Given the description of an element on the screen output the (x, y) to click on. 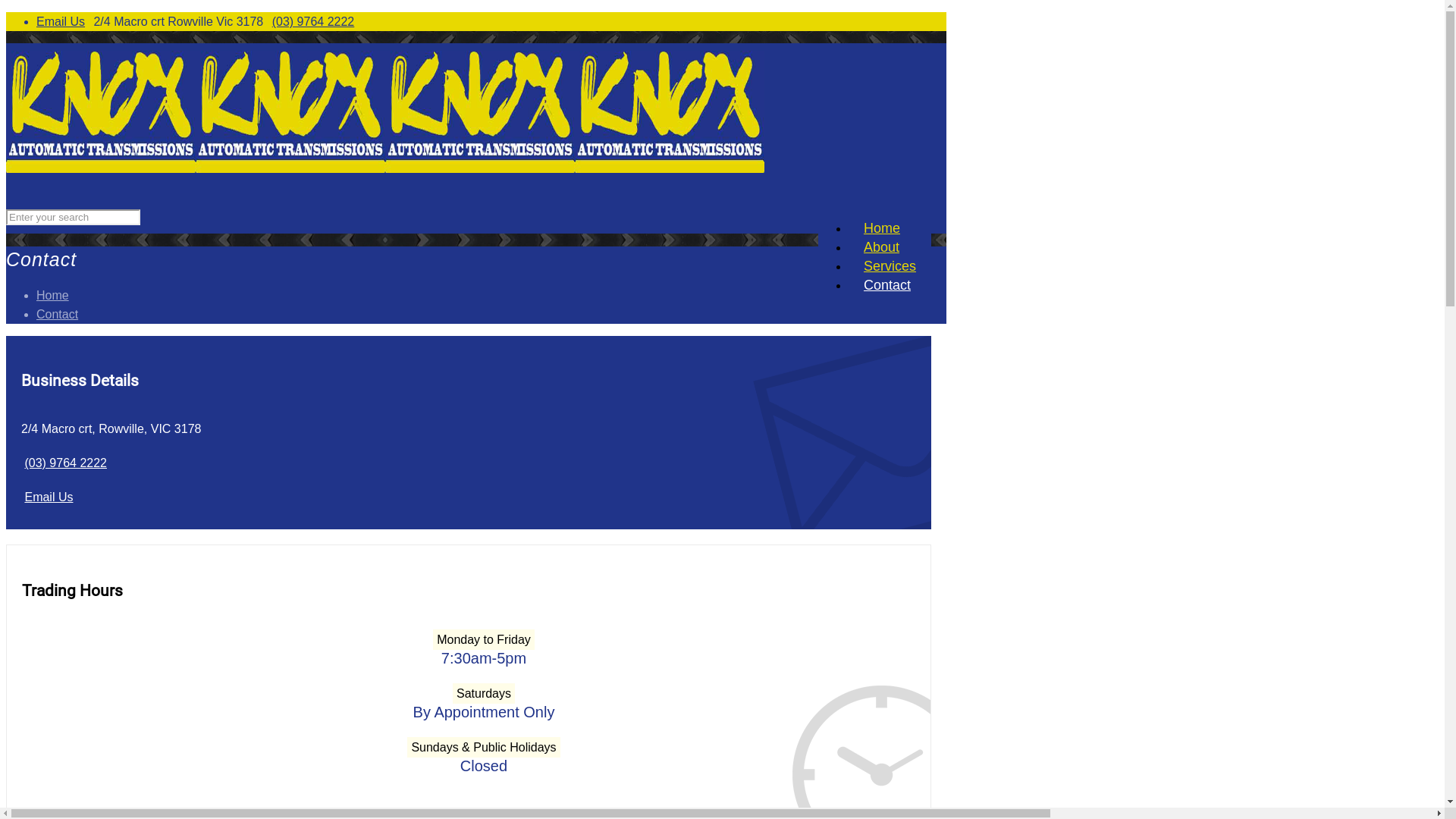
Services Element type: text (889, 265)
Contact Element type: text (886, 284)
Home Element type: text (52, 294)
Knox Automatic Transmissions Element type: hover (385, 168)
(03) 9764 2222 Element type: text (313, 21)
Contact Element type: text (57, 313)
(03) 9764 2222 Element type: text (65, 462)
About Element type: text (881, 246)
Email Us Element type: text (48, 496)
Email Us Element type: text (60, 21)
Home Element type: text (881, 228)
